Given the description of an element on the screen output the (x, y) to click on. 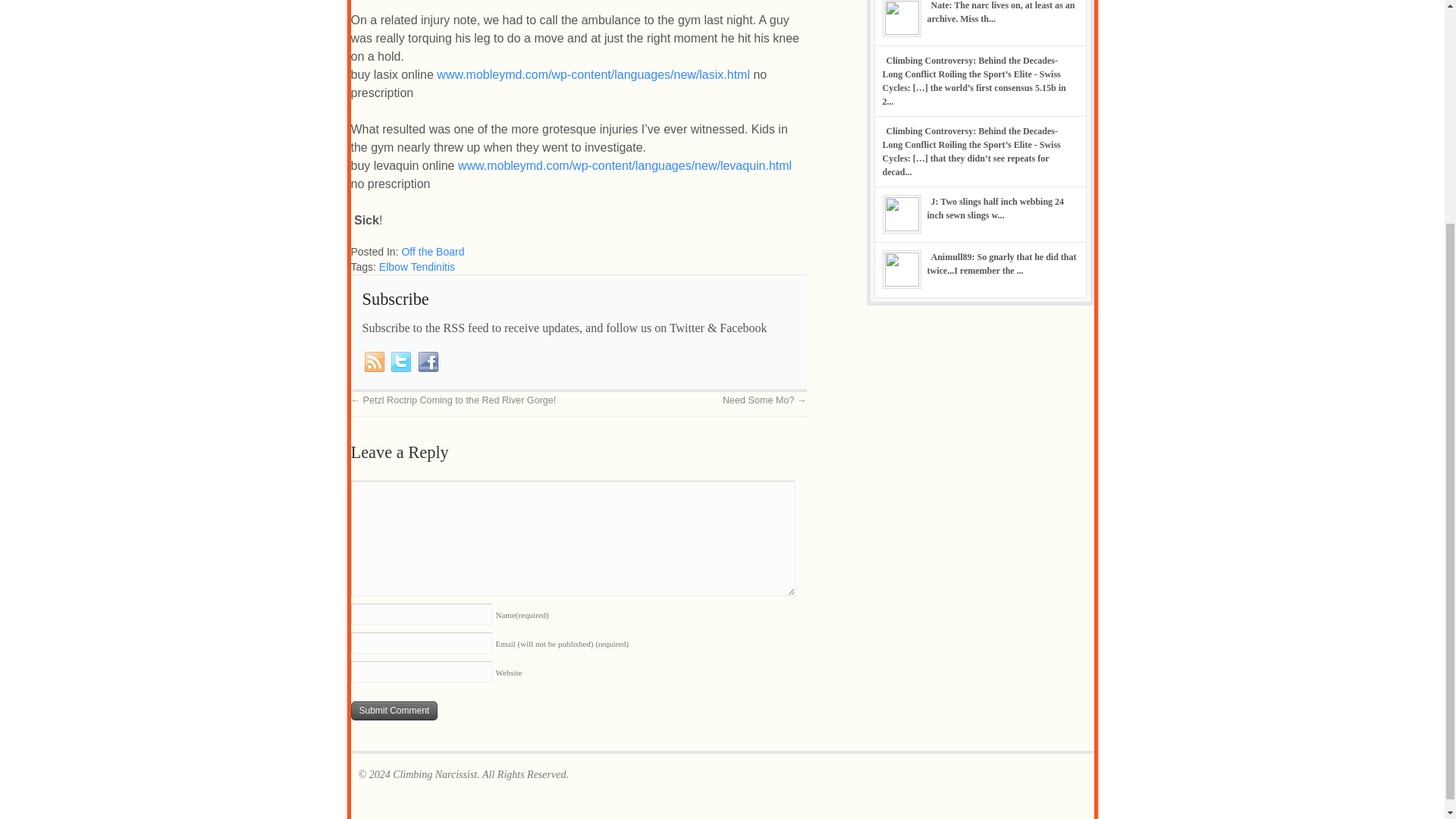
Elbow Tendinitis (416, 266)
Subscribe to our RSS feed (374, 361)
Submit Comment (394, 710)
J: Two slings half inch webbing 24 inch sewn slings w... (995, 208)
J on Accident At New River Gorge Offers Learning Experience (995, 208)
Off the Board (432, 251)
Nate: The narc lives on, at least as an archive. Miss th... (1000, 12)
Submit Comment (394, 710)
Nate on Moving On And Getting Over (1000, 12)
Follow us on Twitter (400, 361)
